Given the description of an element on the screen output the (x, y) to click on. 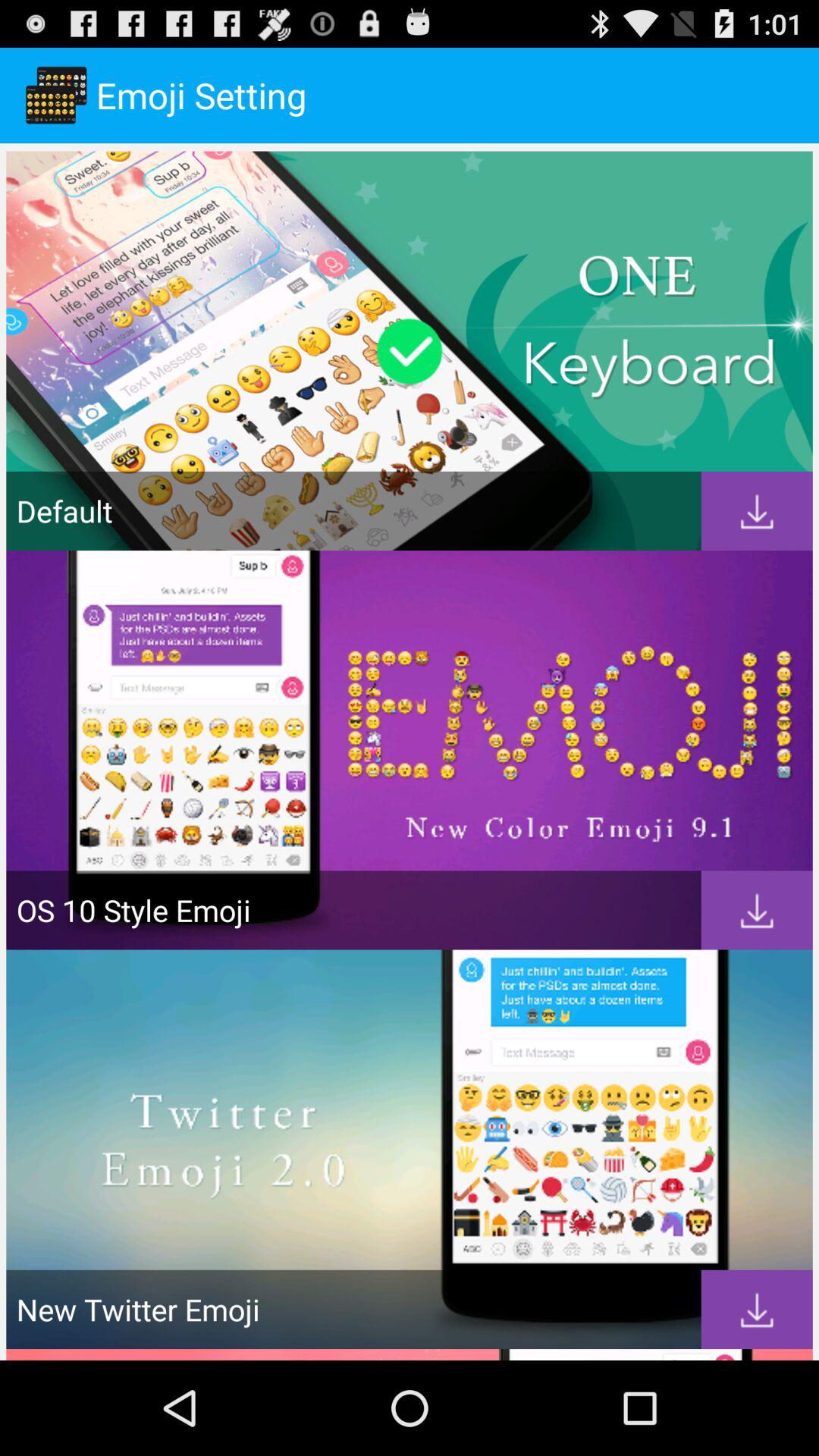
download new twitter emoji (756, 1309)
